Given the description of an element on the screen output the (x, y) to click on. 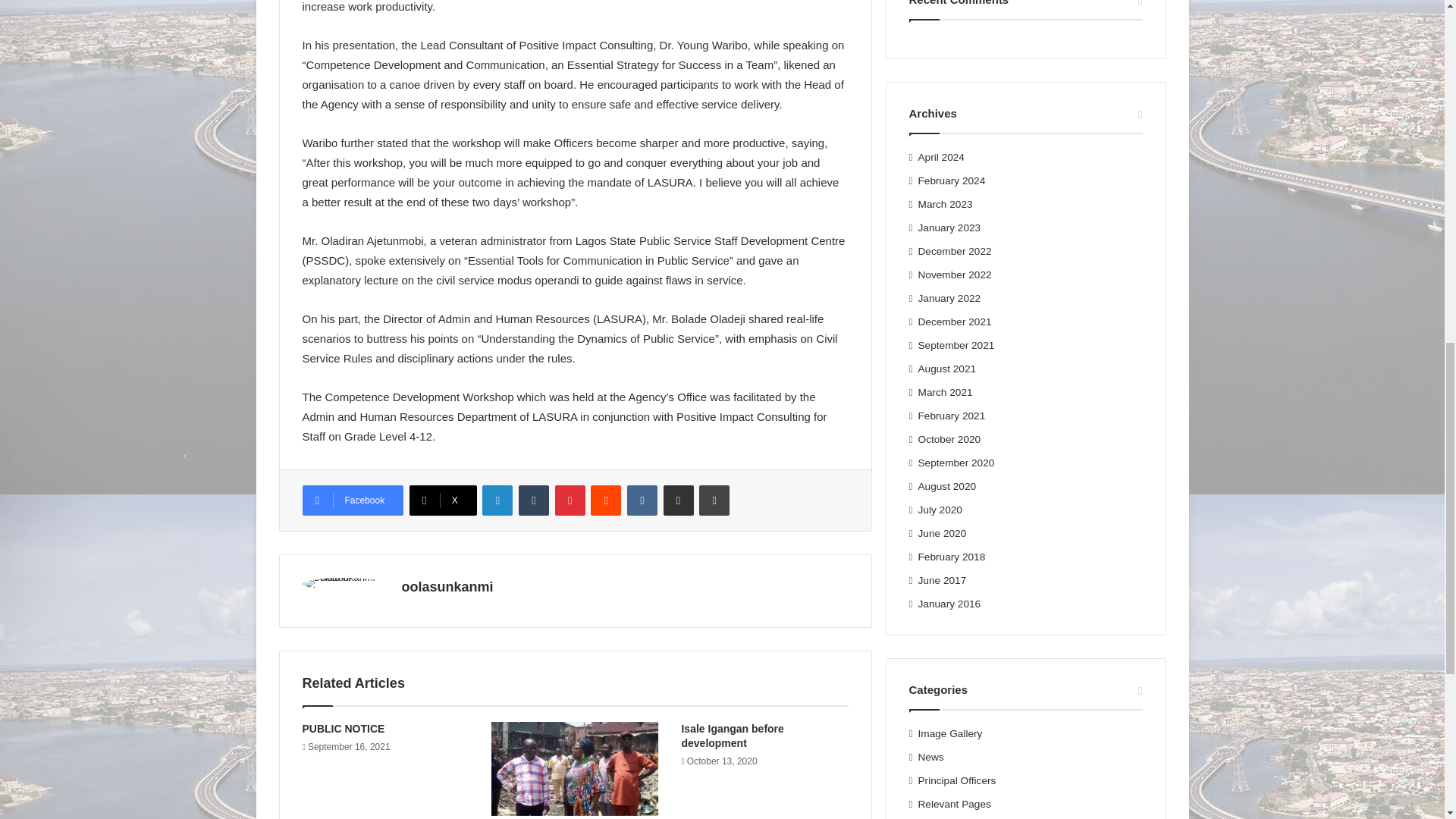
Tumblr (533, 500)
Facebook (352, 500)
Reddit (606, 500)
oolasunkanmi (447, 586)
Facebook (352, 500)
X (443, 500)
Tumblr (533, 500)
VKontakte (642, 500)
Share via Email (678, 500)
Reddit (606, 500)
